Given the description of an element on the screen output the (x, y) to click on. 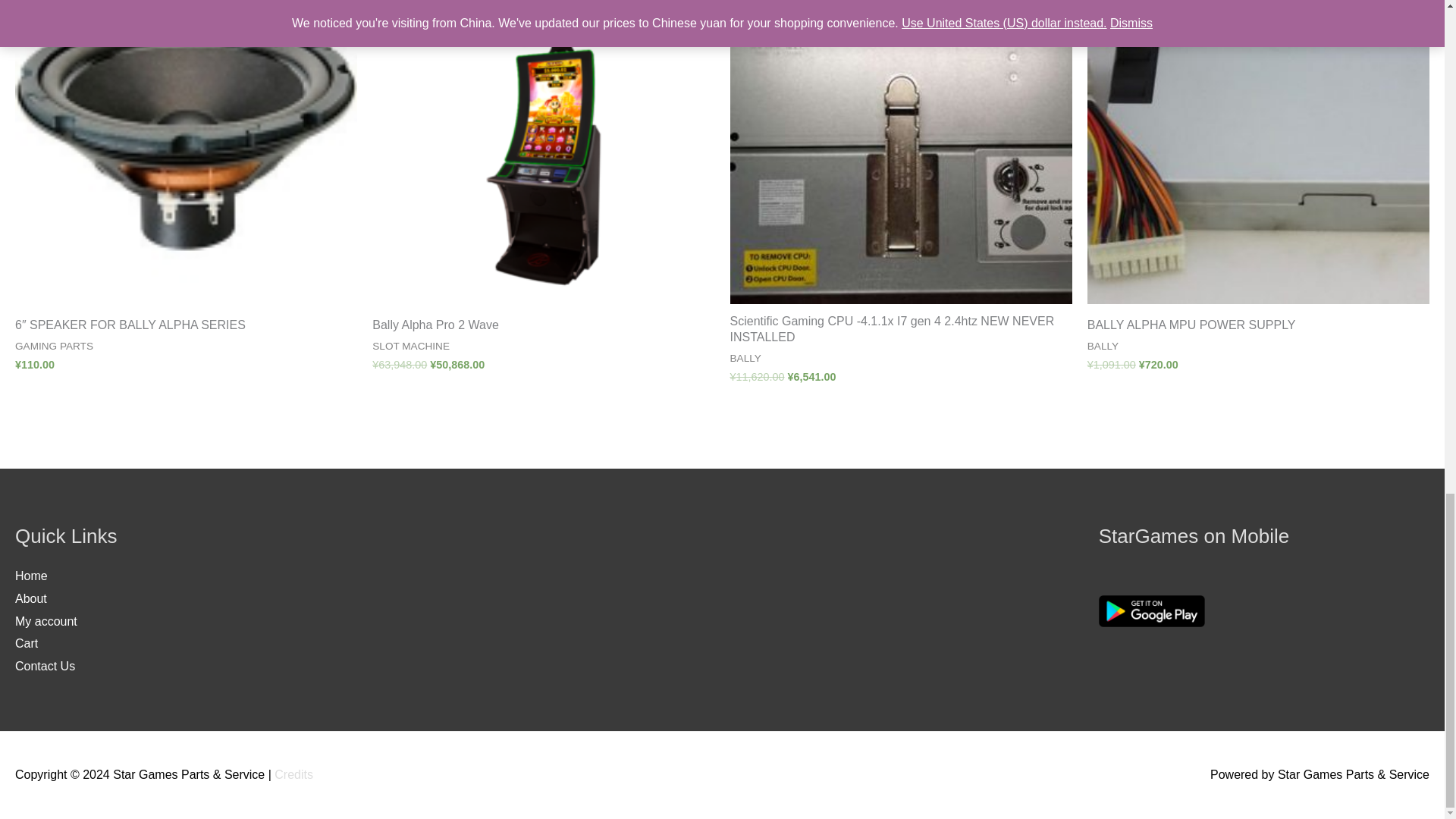
Bally Alpha Pro 2 Wave (543, 328)
Home (31, 575)
BALLY ALPHA MPU POWER SUPPLY (1258, 328)
About (30, 598)
Cart (25, 643)
Contact Us (44, 666)
My account (45, 621)
